Given the description of an element on the screen output the (x, y) to click on. 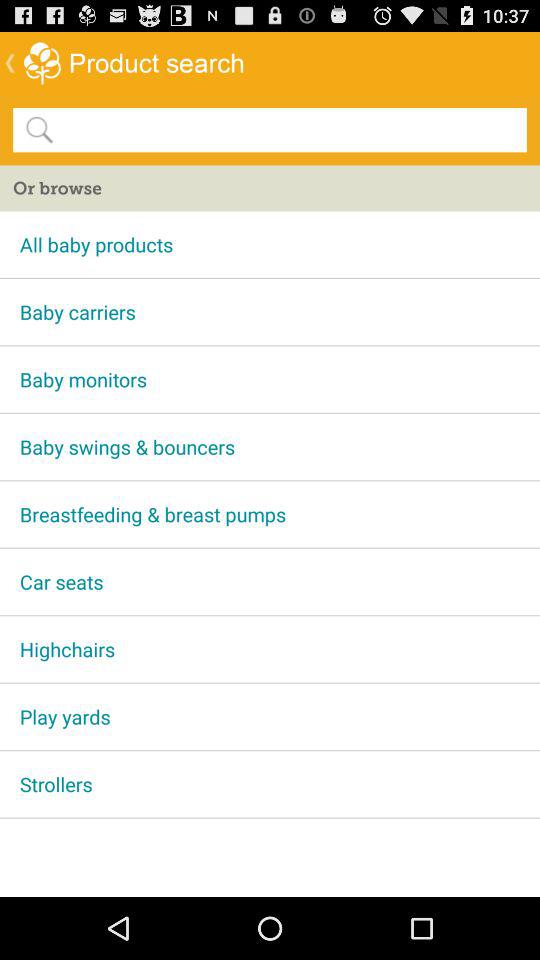
open app above strollers app (270, 716)
